Given the description of an element on the screen output the (x, y) to click on. 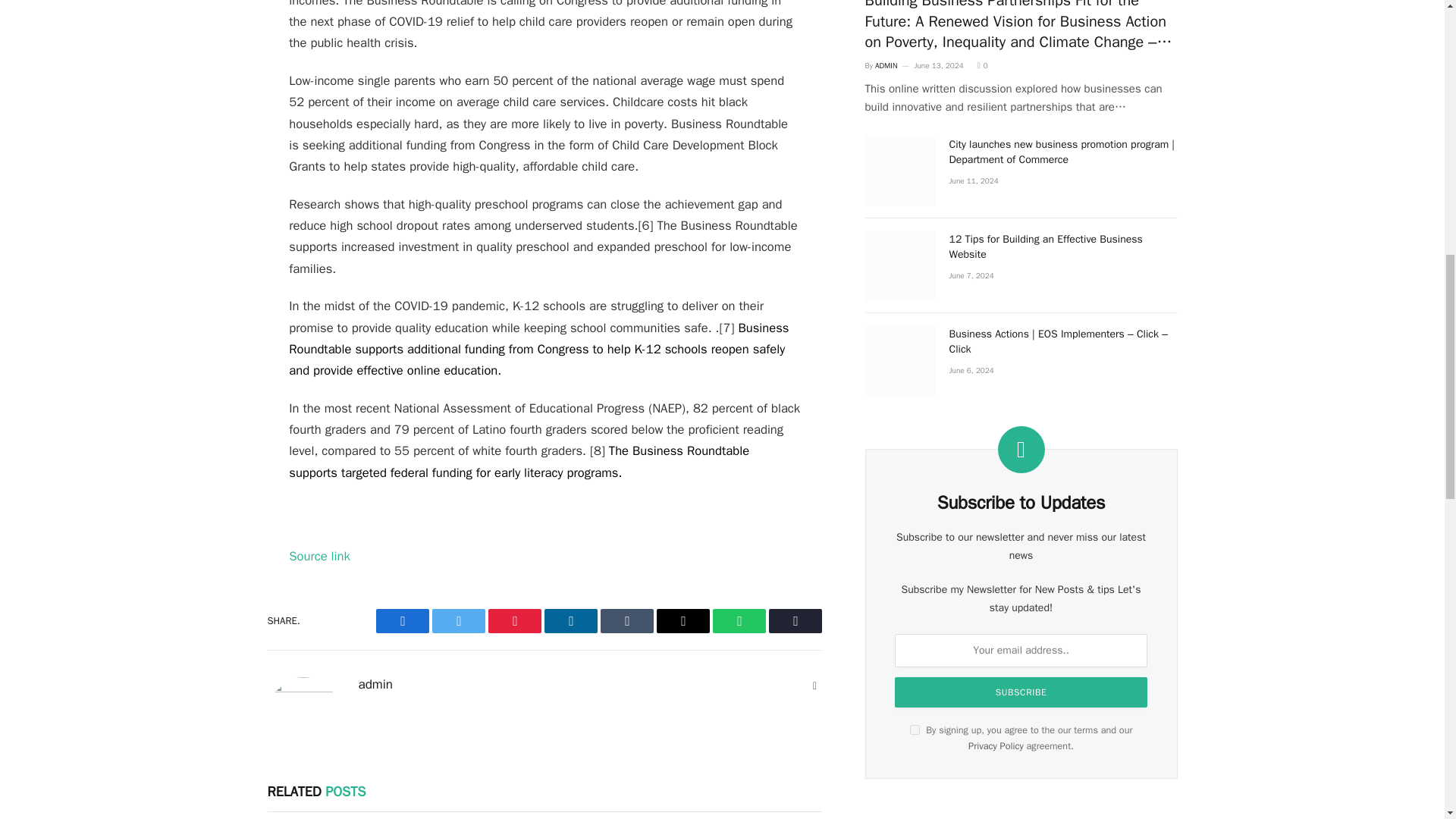
Subscribe (1021, 692)
on (915, 729)
